Given the description of an element on the screen output the (x, y) to click on. 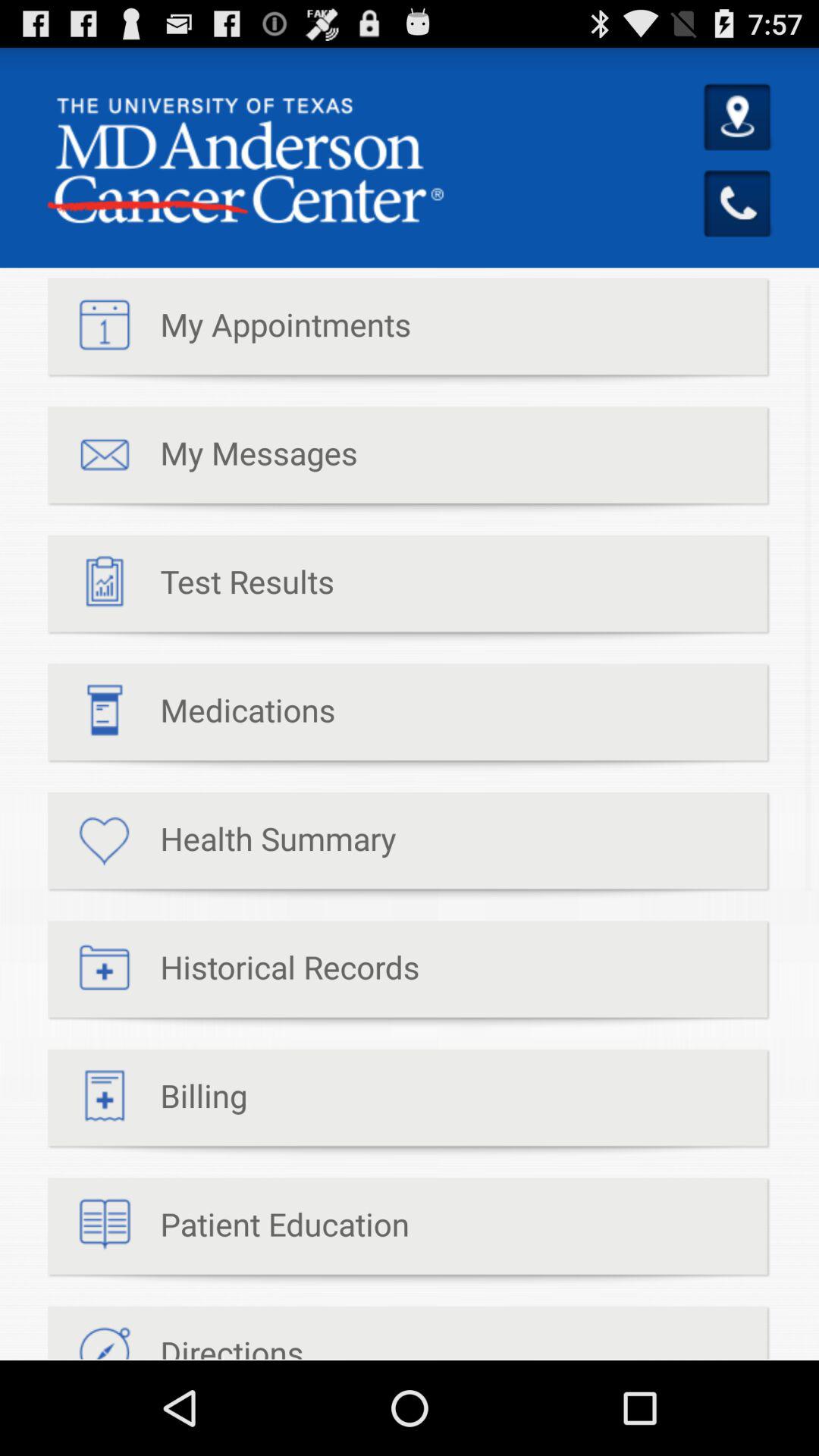
press icon above the directions icon (228, 1231)
